Given the description of an element on the screen output the (x, y) to click on. 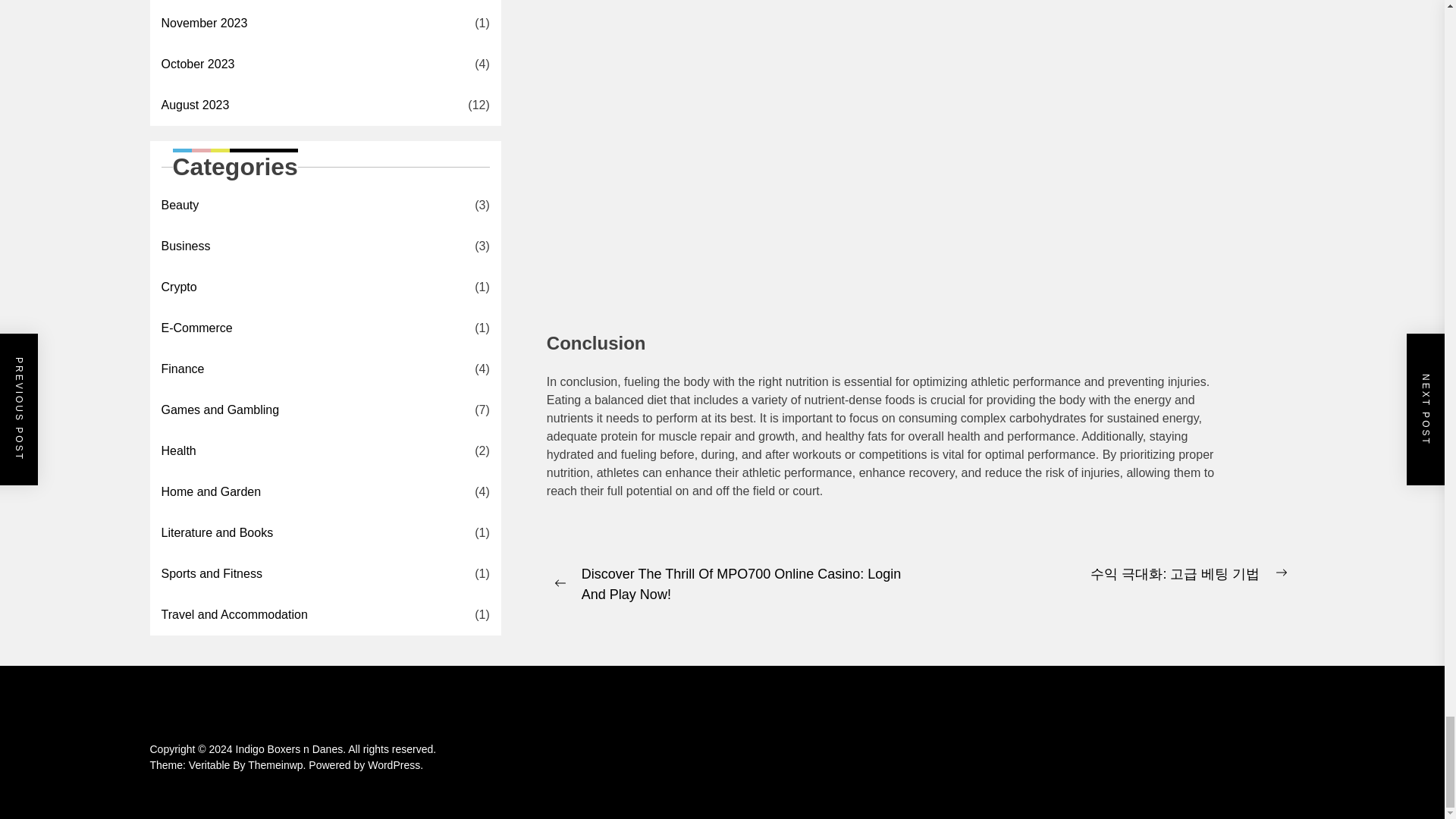
WordPress (395, 765)
Indigo Boxers n Danes (292, 748)
Themeinwp (277, 765)
